Given the description of an element on the screen output the (x, y) to click on. 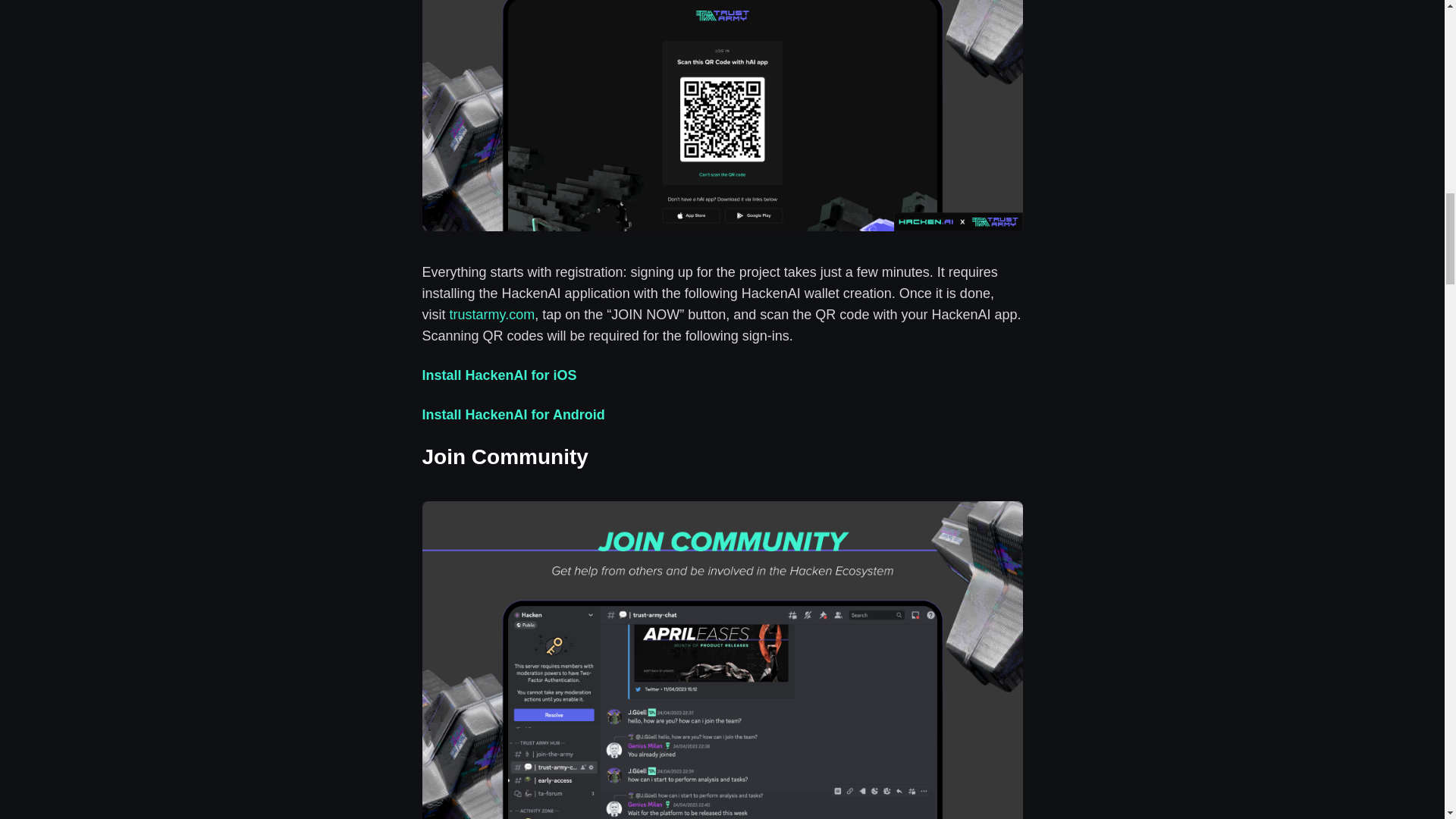
trustarmy.com (491, 314)
Install HackenAI for Android (513, 414)
Install HackenAI for iOS (499, 375)
